Given the description of an element on the screen output the (x, y) to click on. 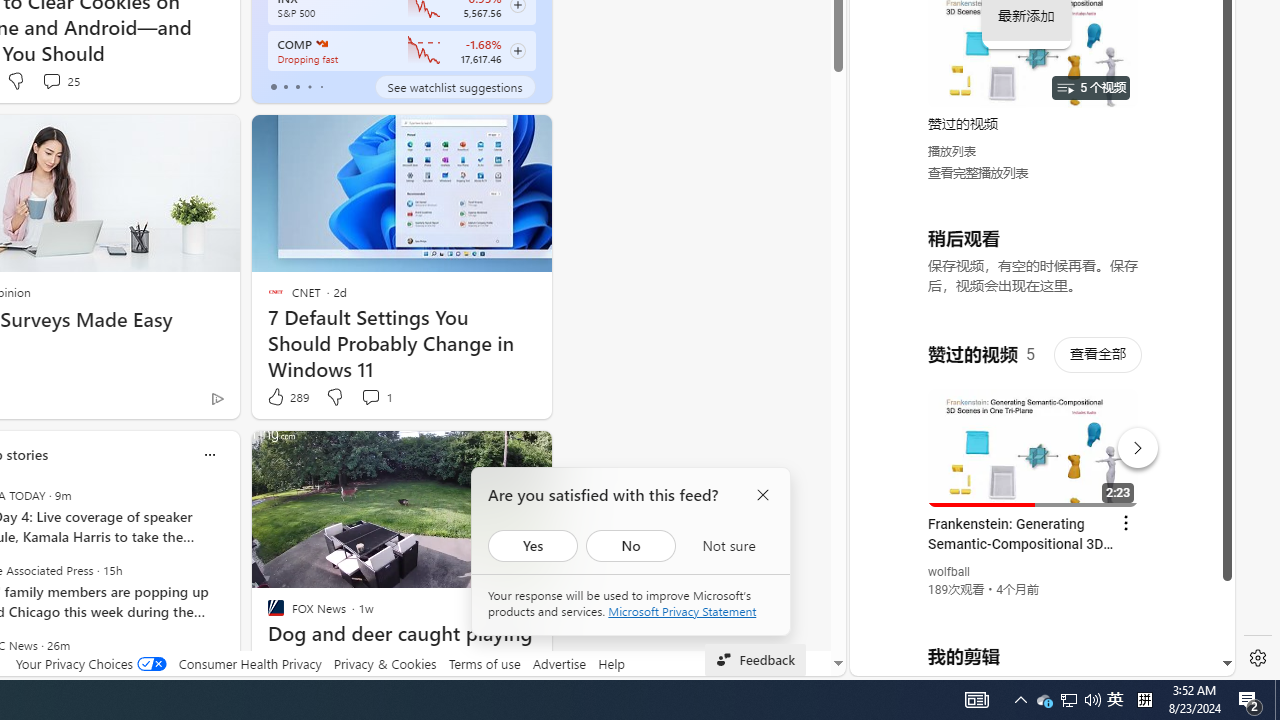
View comments 25 Comment (50, 80)
tab-2 (297, 86)
tab-0 (273, 86)
Terms of use (484, 663)
tab-3 (309, 86)
next (229, 583)
289 Like (287, 397)
Help (610, 663)
Privacy & Cookies (384, 663)
View comments 25 Comment (60, 80)
